Given the description of an element on the screen output the (x, y) to click on. 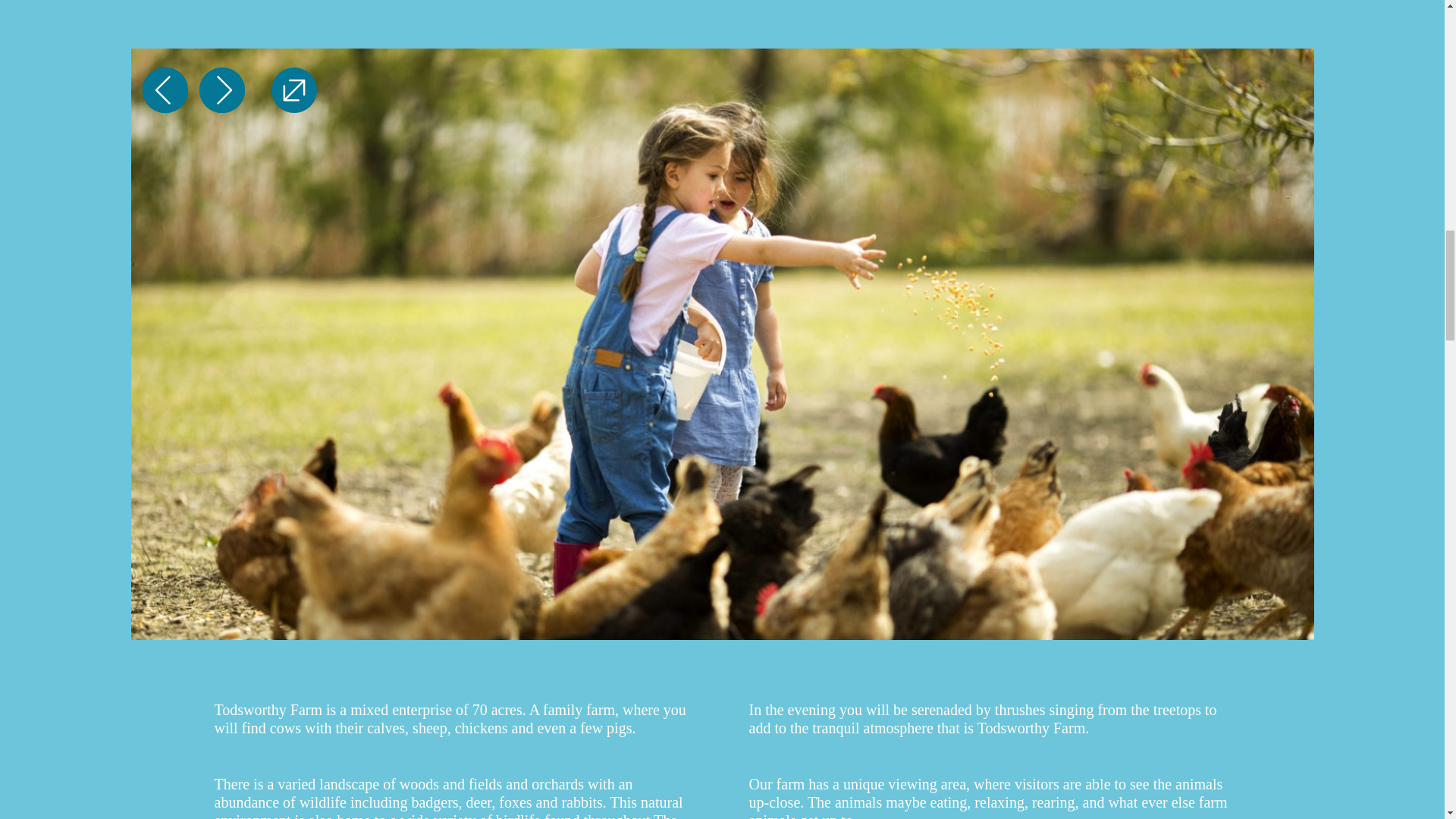
Previous (164, 90)
Next (221, 90)
